Given the description of an element on the screen output the (x, y) to click on. 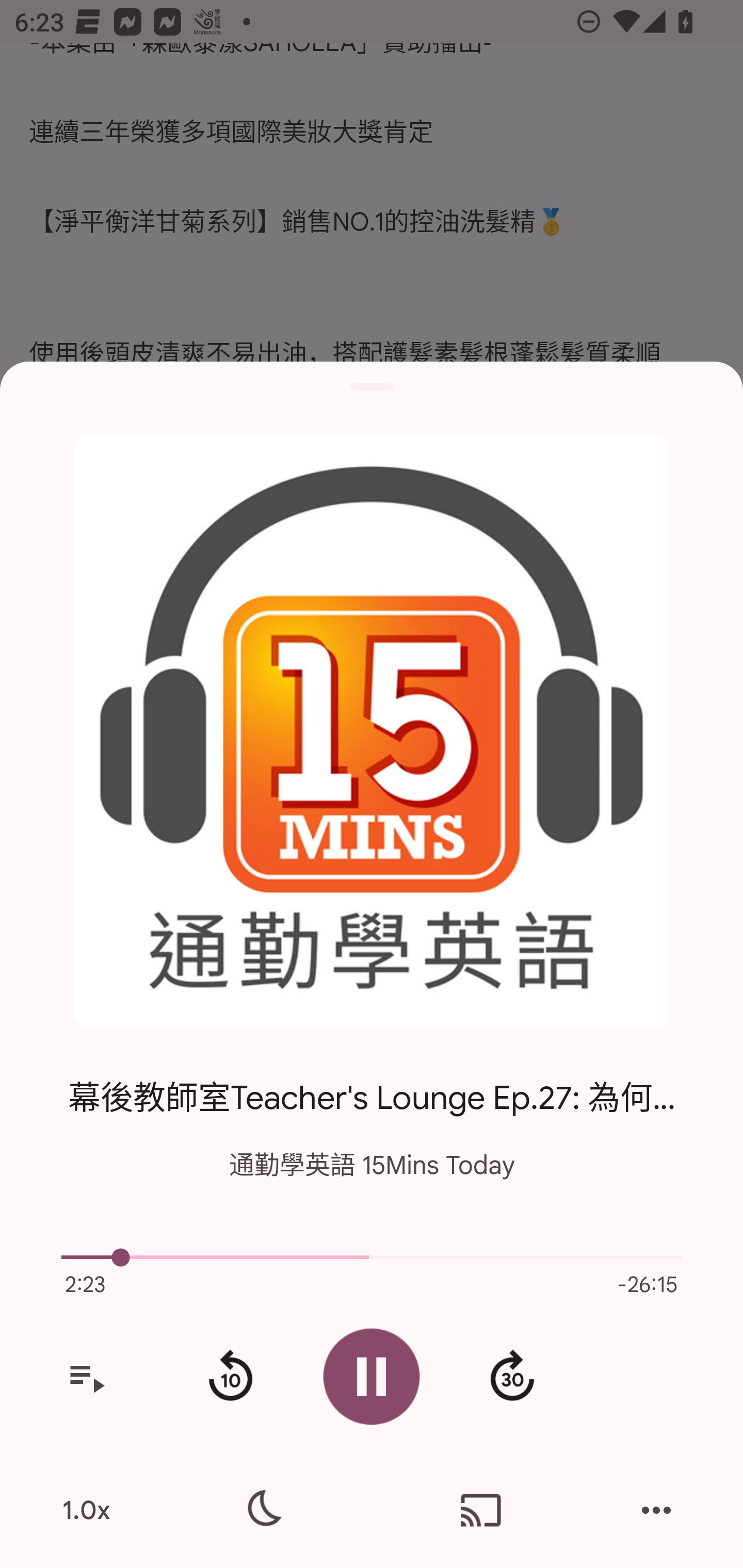
Open the show page for 通勤學英語 15Mins Today (371, 731)
835.0 Current episode playback (371, 1257)
Pause (371, 1376)
View your queue (86, 1376)
Rewind 10 seconds (230, 1376)
Fast forward 30 second (511, 1376)
1.0x Playback speed is 1.0. (86, 1510)
Sleep timer settings (261, 1510)
Cast. Disconnected (480, 1510)
More actions (655, 1510)
